Given the description of an element on the screen output the (x, y) to click on. 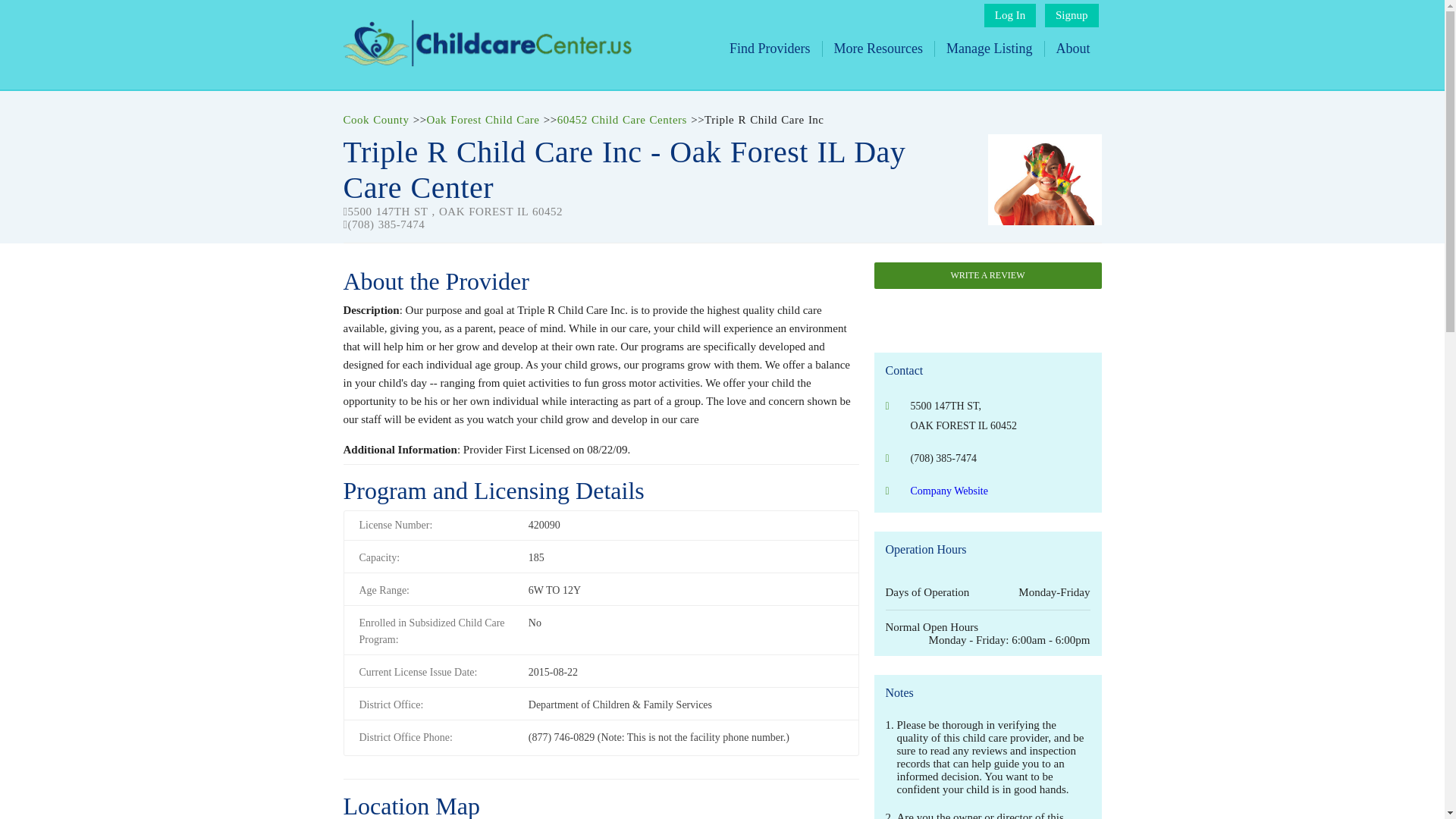
WRITE A REVIEW (986, 275)
About (1072, 48)
More Resources (878, 48)
Signup (1072, 15)
Manage Listing (989, 48)
Find Providers (769, 48)
Cook County (375, 119)
Oak Forest Child Care (483, 119)
Childcare Center, Preschools, and Home Daycare (486, 62)
Log In (1009, 15)
Company Website (948, 490)
Log In (1009, 15)
60452 Child Care Centers (622, 119)
